Given the description of an element on the screen output the (x, y) to click on. 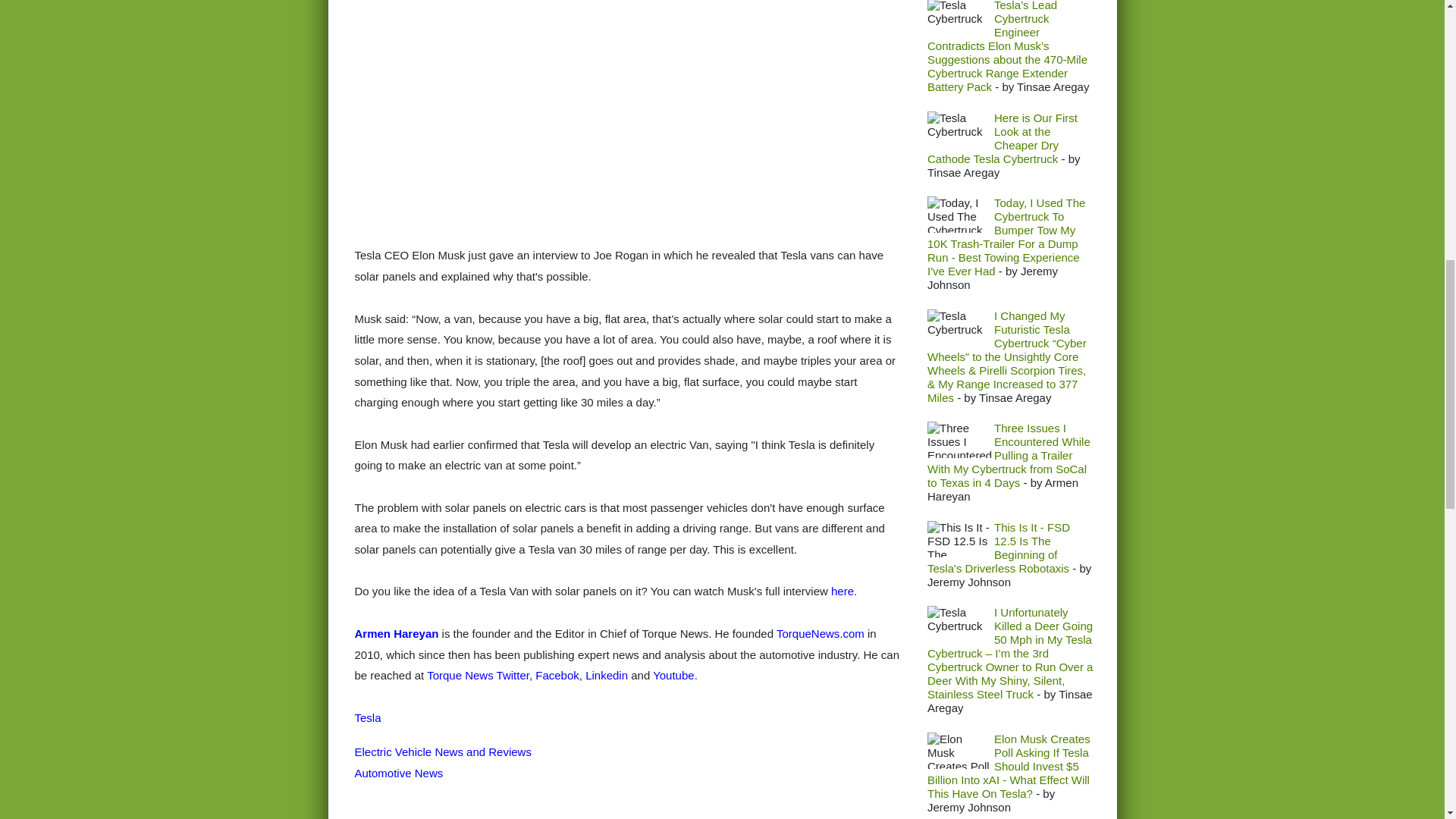
Youtube (673, 675)
Torque News Twitter (477, 675)
TorqueNews.com (820, 633)
Electric Vehicle News and Reviews (443, 751)
Automotive News (399, 772)
Linkedin (606, 675)
Tesla (368, 717)
here (842, 590)
Armen Hareyan (397, 633)
Facebok (557, 675)
